Given the description of an element on the screen output the (x, y) to click on. 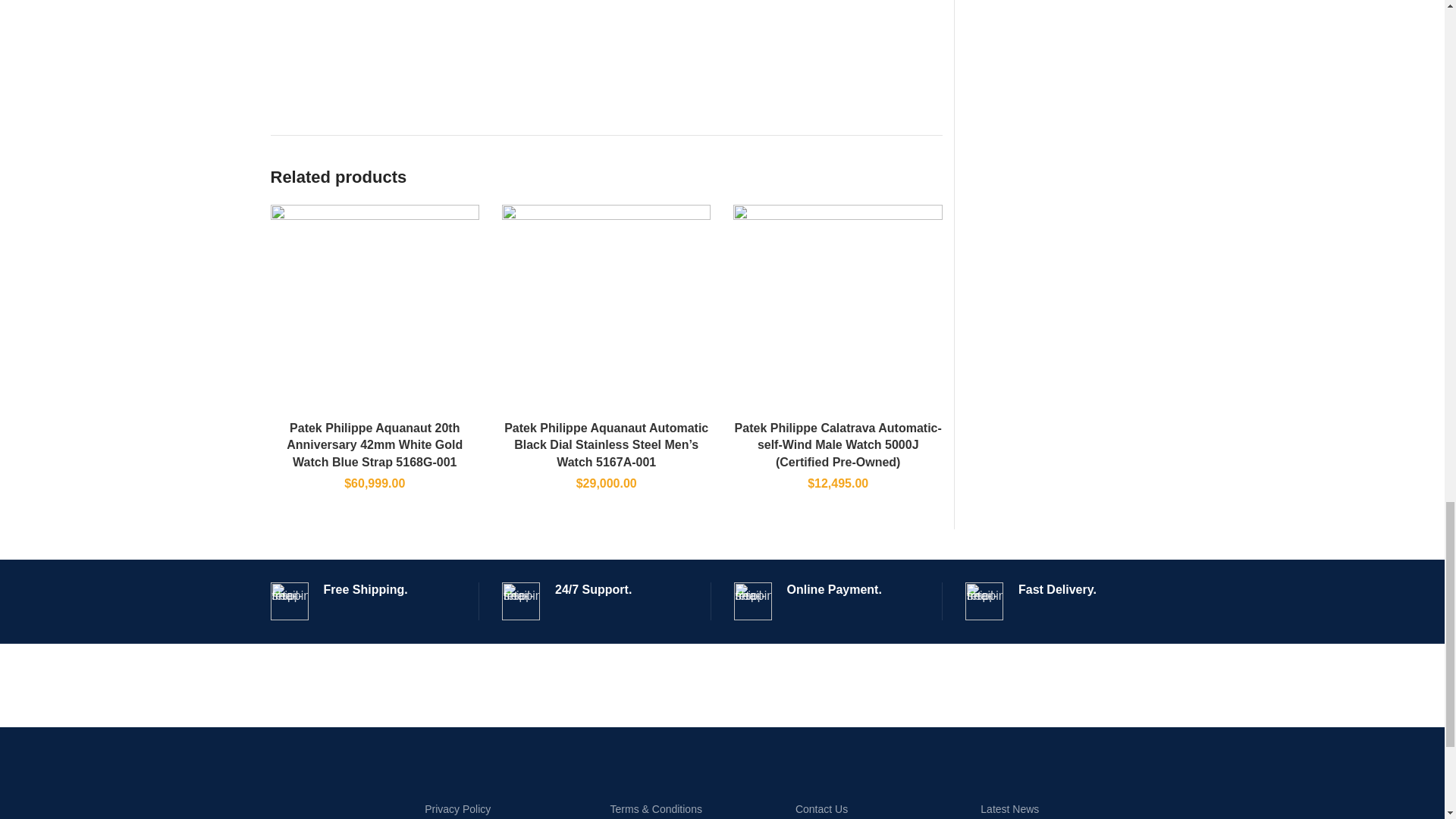
retail-free-shipping (521, 600)
Advertisement (605, 48)
retail-free-shipping (288, 600)
